Given the description of an element on the screen output the (x, y) to click on. 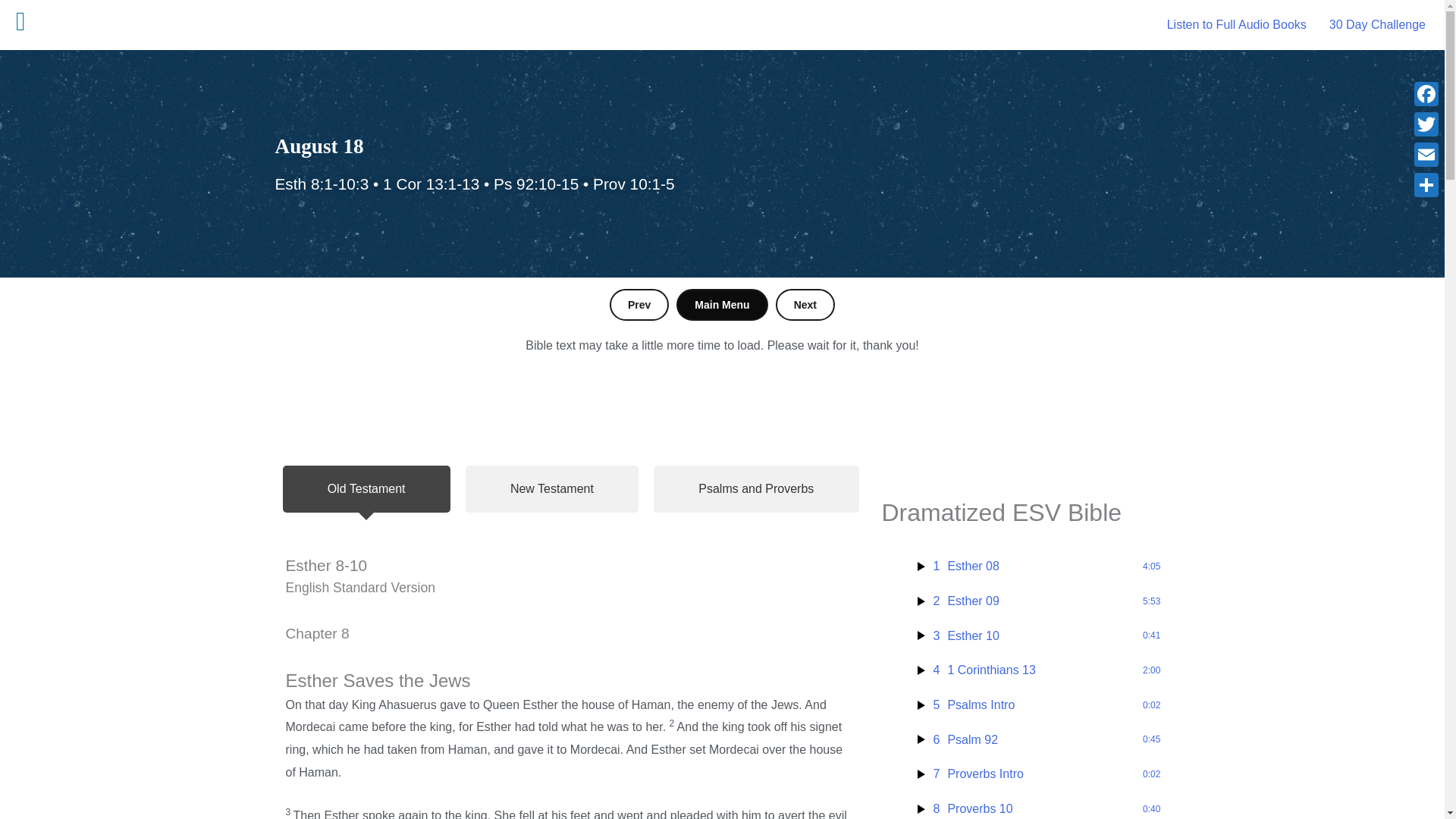
Main Menu (1038, 773)
30 Day Challenge (1038, 635)
Next (722, 305)
